Given the description of an element on the screen output the (x, y) to click on. 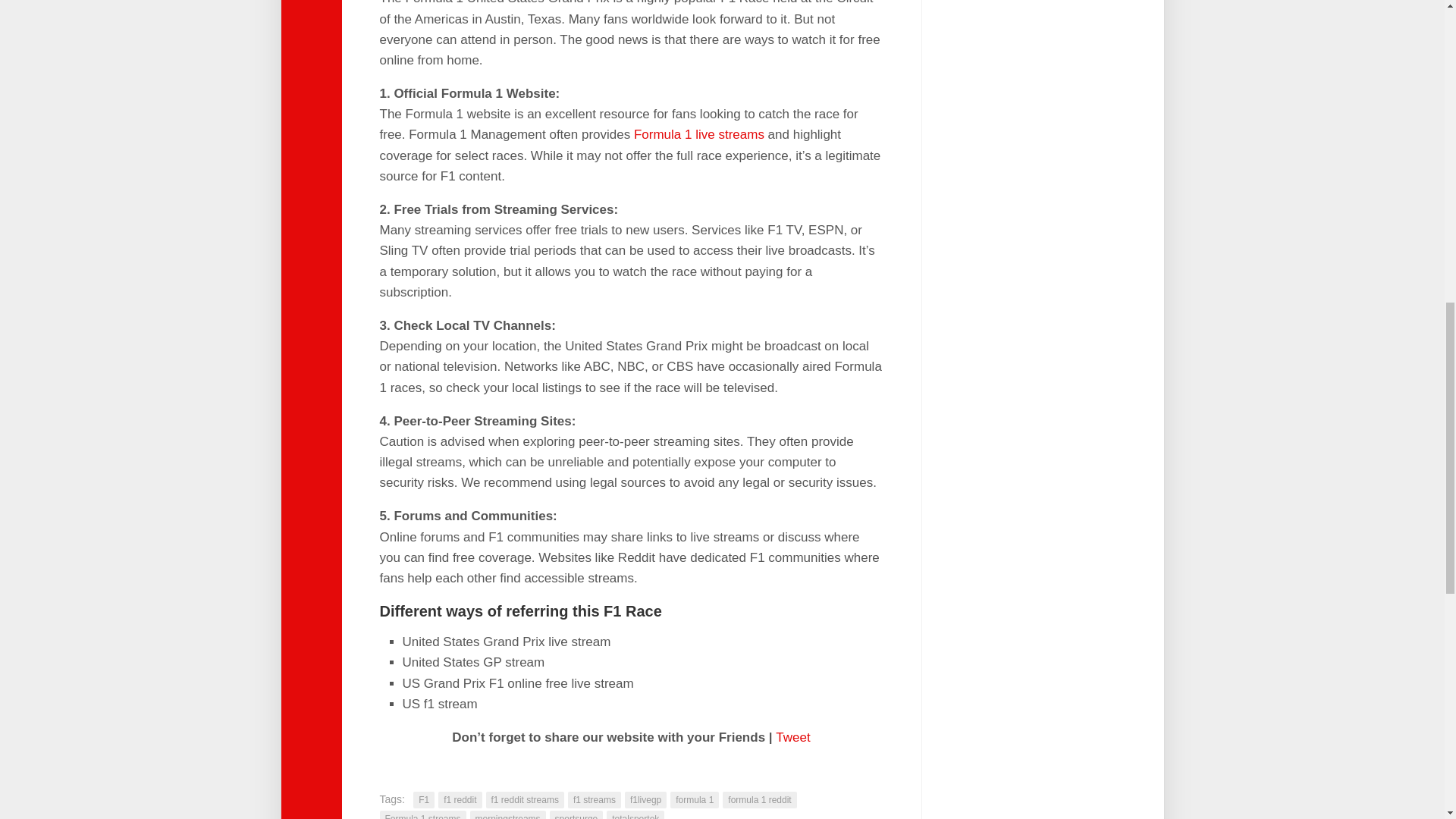
f1 reddit (459, 799)
f1 streams (594, 799)
formula 1 reddit (759, 799)
F1 (423, 799)
sportsurge (577, 814)
Tweet (792, 737)
Formula 1 streams (421, 814)
f1 reddit streams (525, 799)
f1livegp (645, 799)
Formula 1 live streams (698, 134)
morningstreams (508, 814)
formula 1 (694, 799)
totalsportek (635, 814)
